Given the description of an element on the screen output the (x, y) to click on. 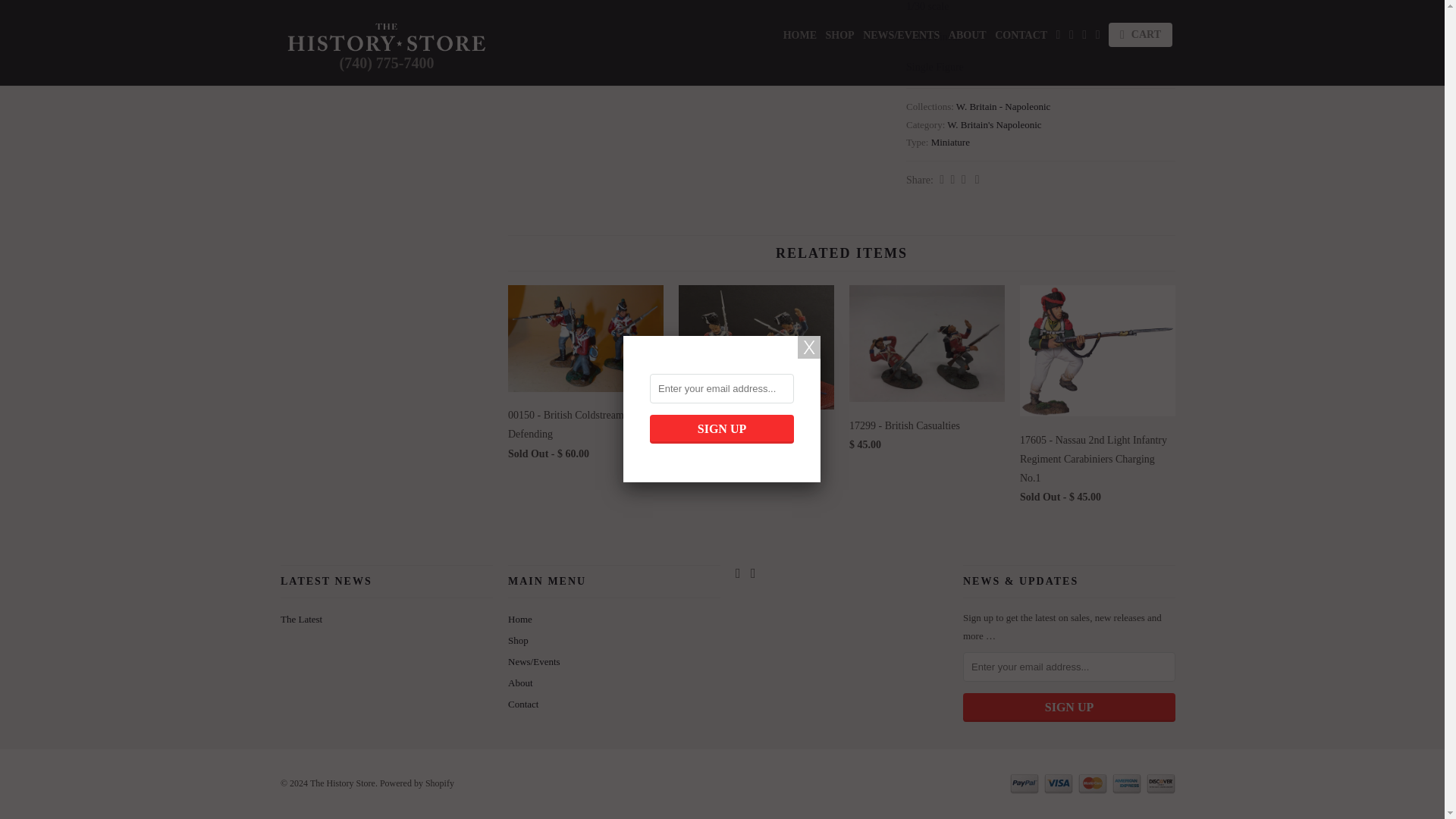
W. Britain - Napoleonic (1002, 106)
W. Britain's Napoleonic (994, 124)
Miniature (950, 142)
